Given the description of an element on the screen output the (x, y) to click on. 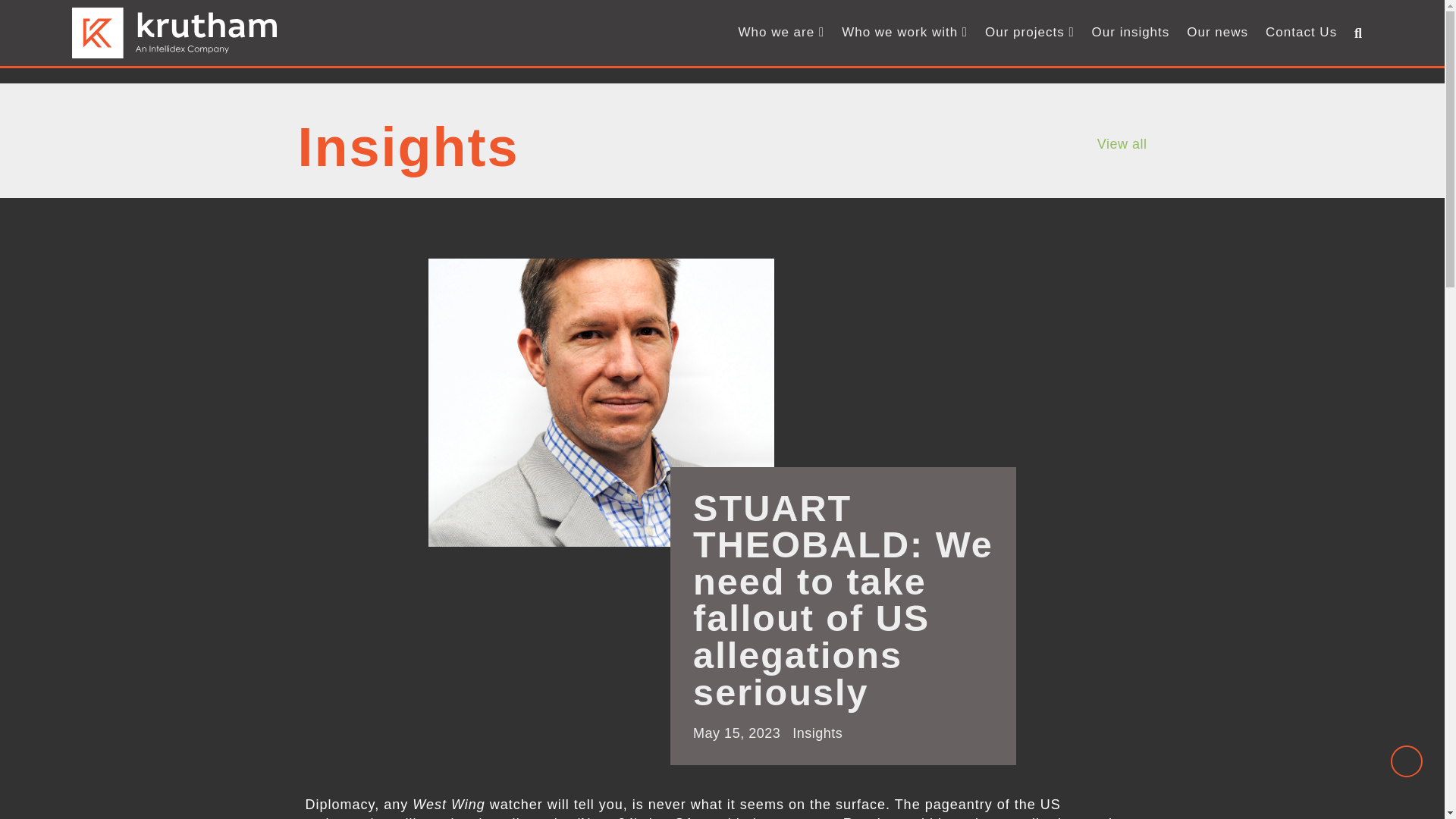
Who we are (780, 32)
Our insights (1130, 32)
Who we work with (904, 32)
Our news (1217, 32)
Contact Us (1300, 32)
Our projects (1028, 32)
